Given the description of an element on the screen output the (x, y) to click on. 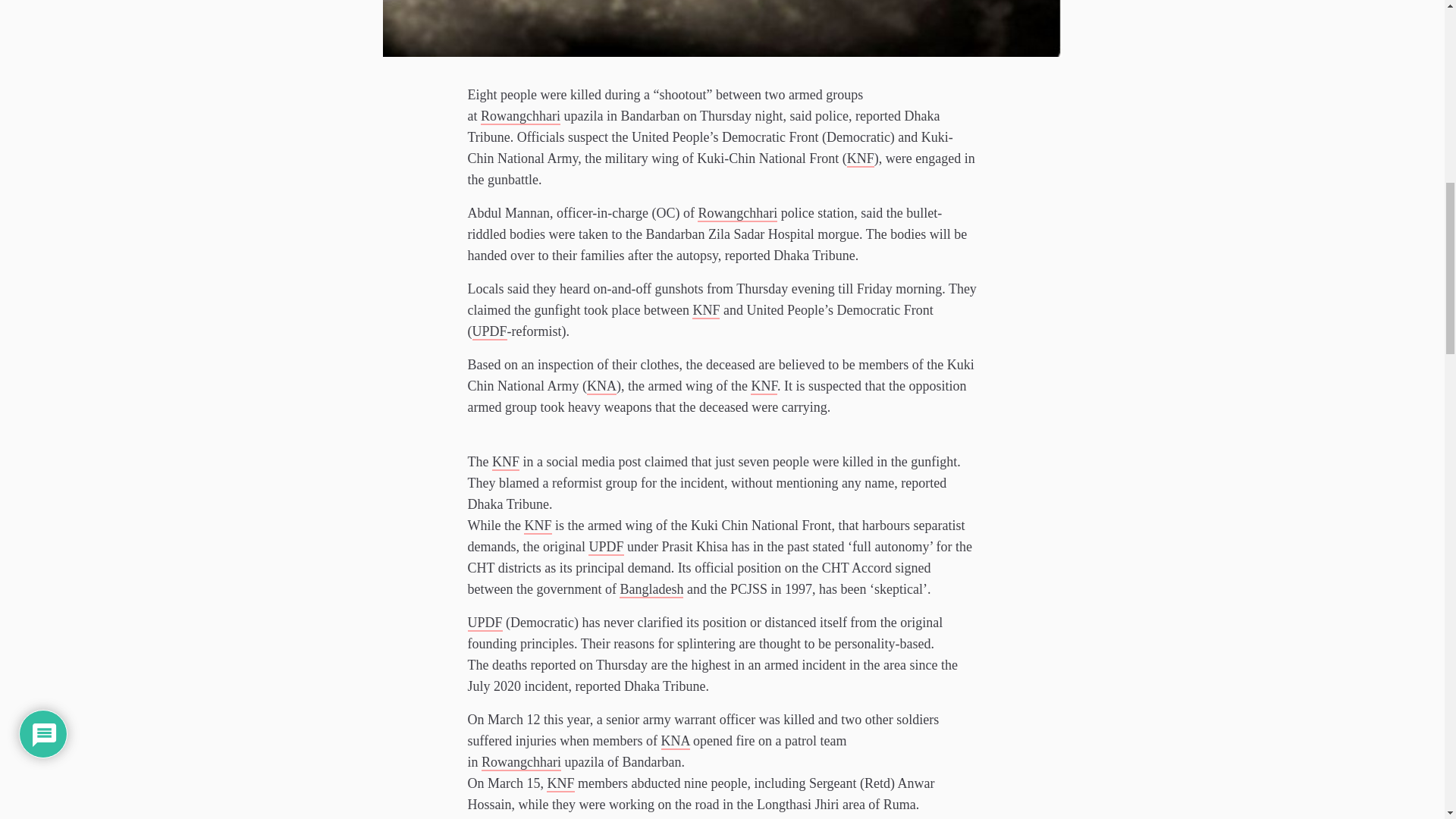
KNA (675, 740)
KNA (600, 385)
KNF (537, 524)
KNF (861, 158)
UPDF (484, 622)
KNF (505, 461)
Rowangchhari (520, 761)
Rowangchhari (737, 212)
Bangladesh (651, 588)
KNF (764, 385)
UPDF (605, 546)
KNF (560, 782)
Rowangchhari (520, 115)
KNF (706, 310)
UPDF (488, 330)
